Given the description of an element on the screen output the (x, y) to click on. 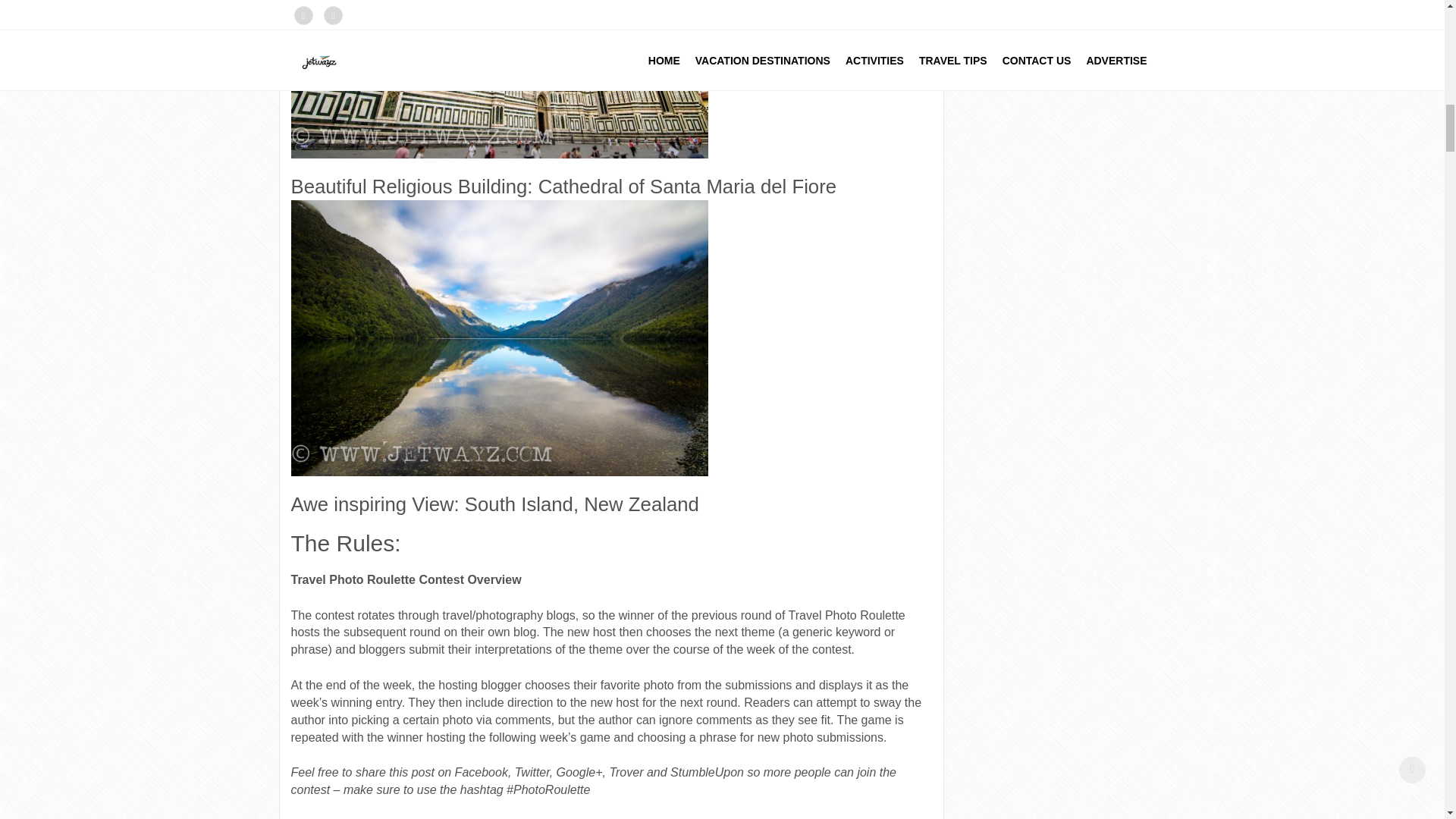
Spiritual Beauty-2 (499, 79)
Spiritual Beauty (499, 337)
